Given the description of an element on the screen output the (x, y) to click on. 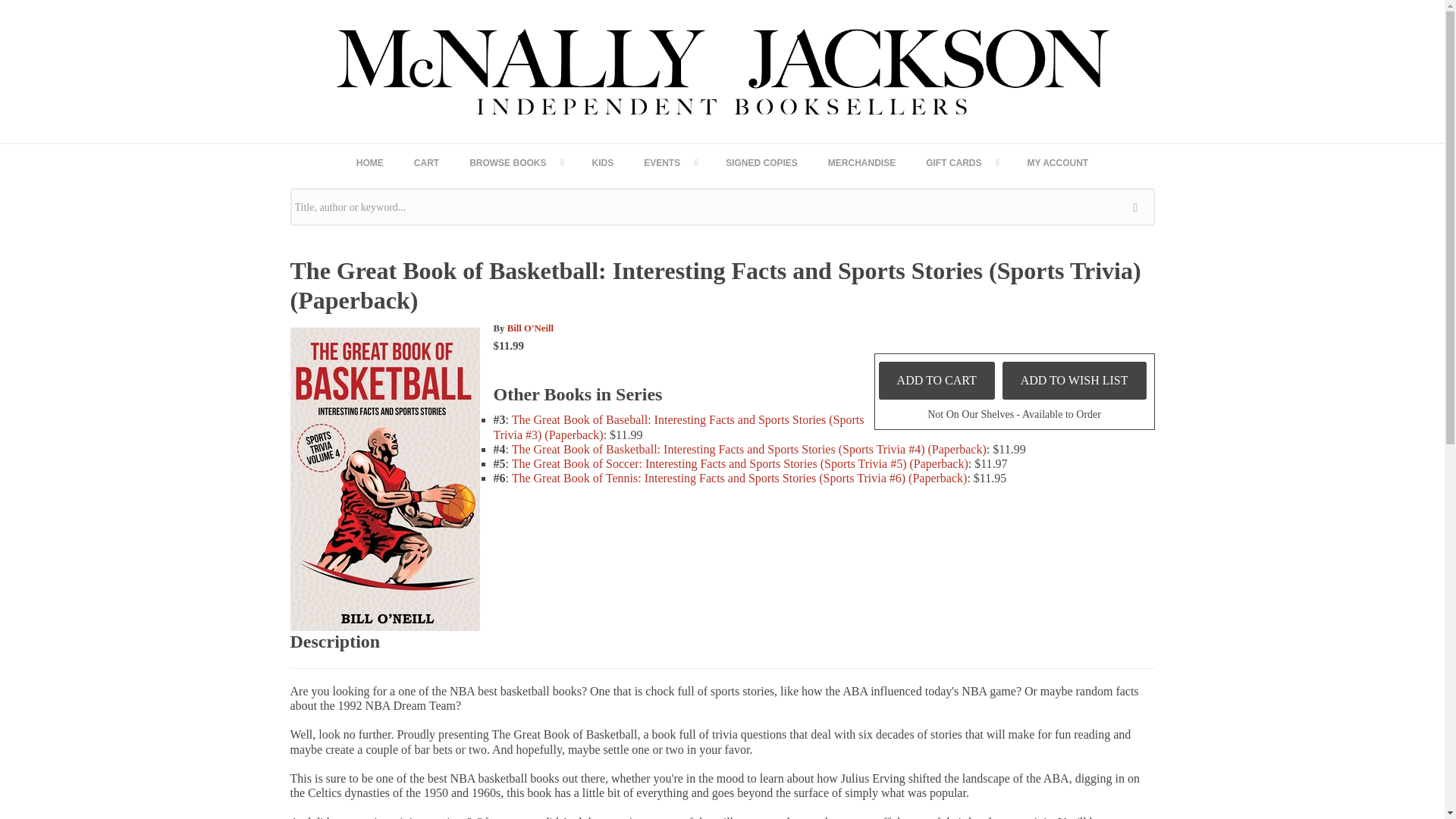
Add to Cart (936, 379)
MY ACCOUNT (1057, 162)
KIDS (602, 162)
EVENTS (669, 162)
BROWSE BOOKS (515, 162)
HOME (369, 162)
SIGNED COPIES (761, 162)
GIFT CARDS (961, 162)
Add to Cart (936, 379)
